Given the description of an element on the screen output the (x, y) to click on. 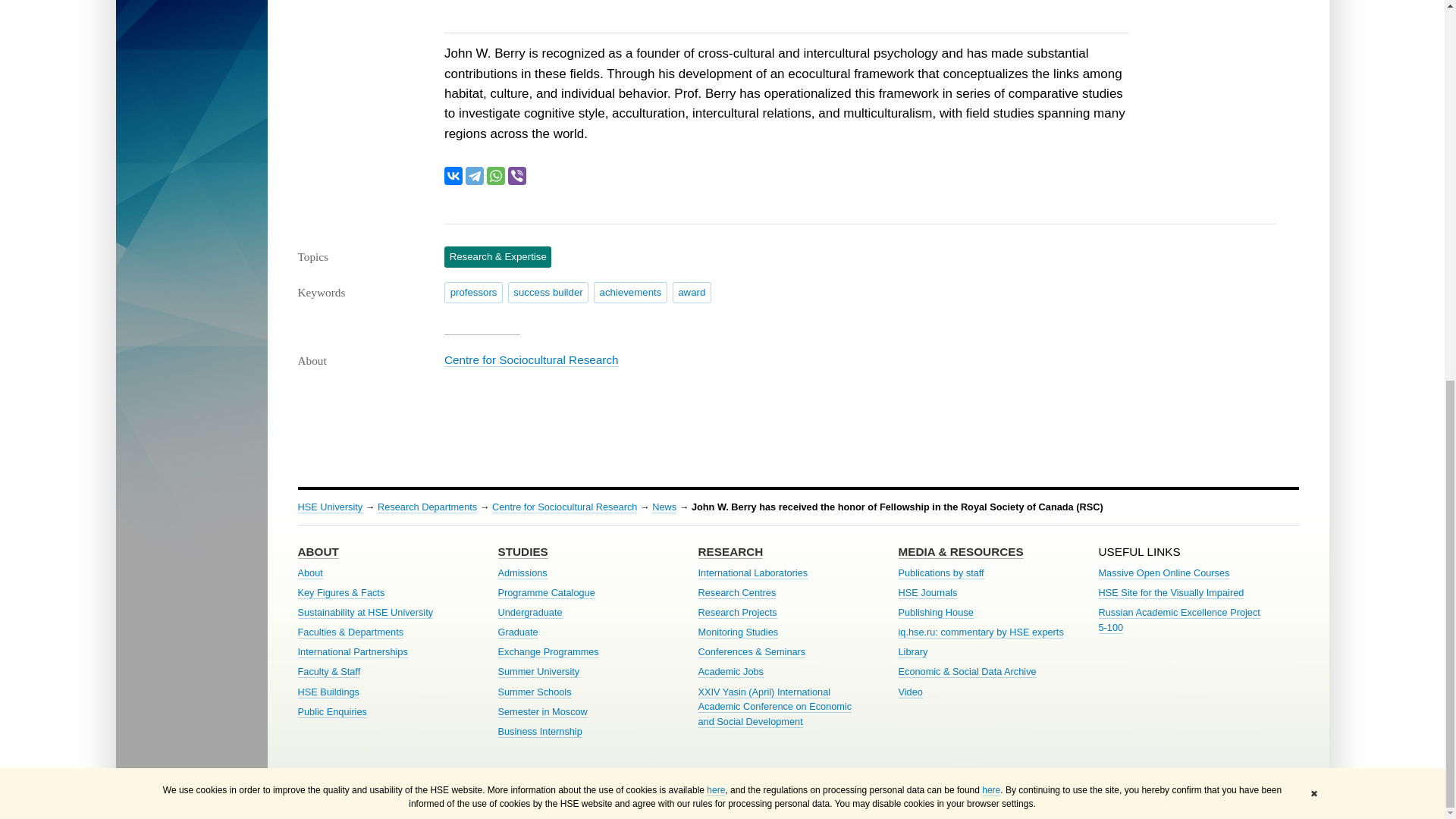
Telegram (474, 176)
Viber (516, 176)
here (990, 80)
VKontakte (453, 176)
WhatsApp (495, 176)
here (715, 80)
